Given the description of an element on the screen output the (x, y) to click on. 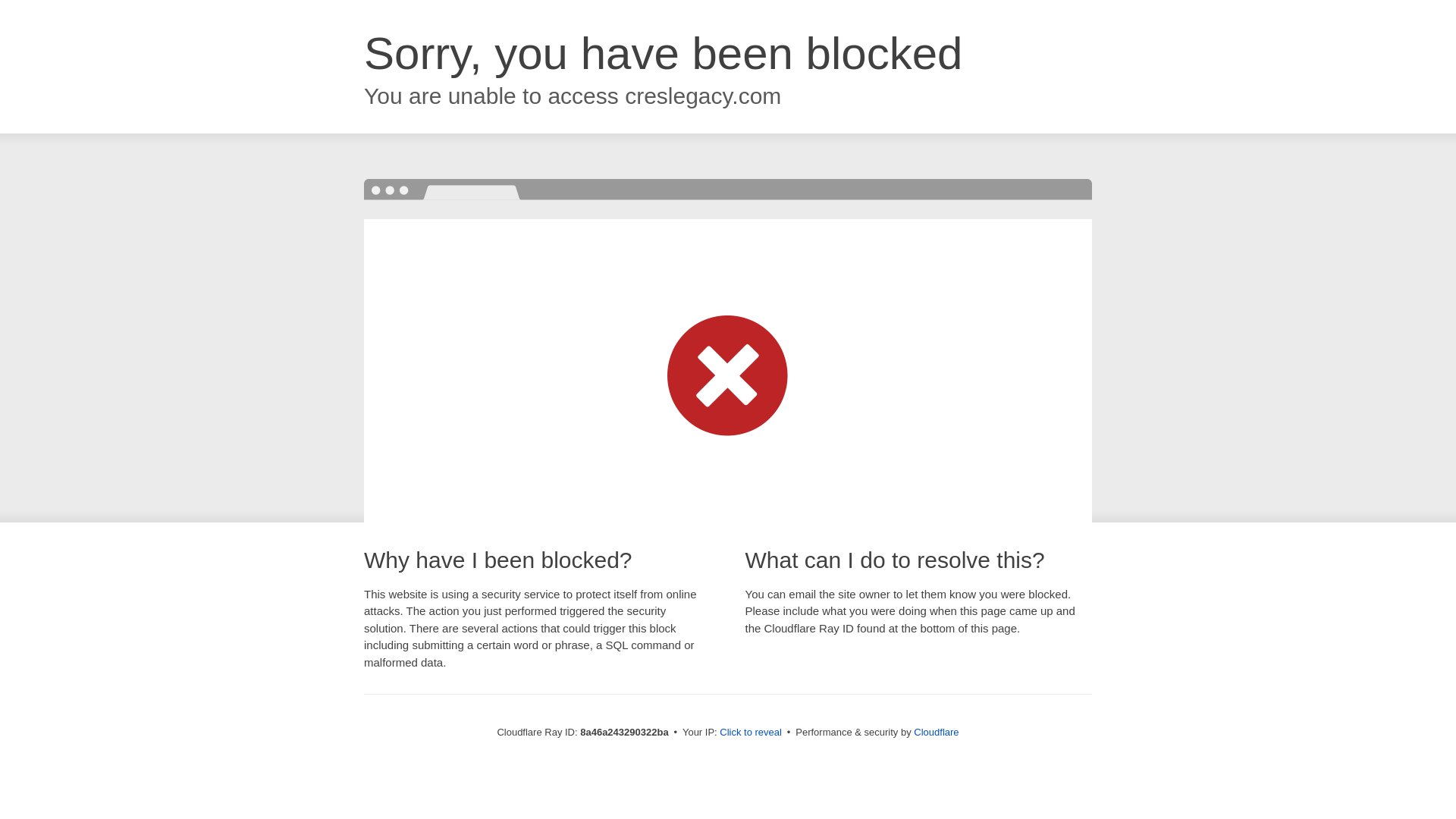
Click to reveal (750, 732)
Cloudflare (936, 731)
